Given the description of an element on the screen output the (x, y) to click on. 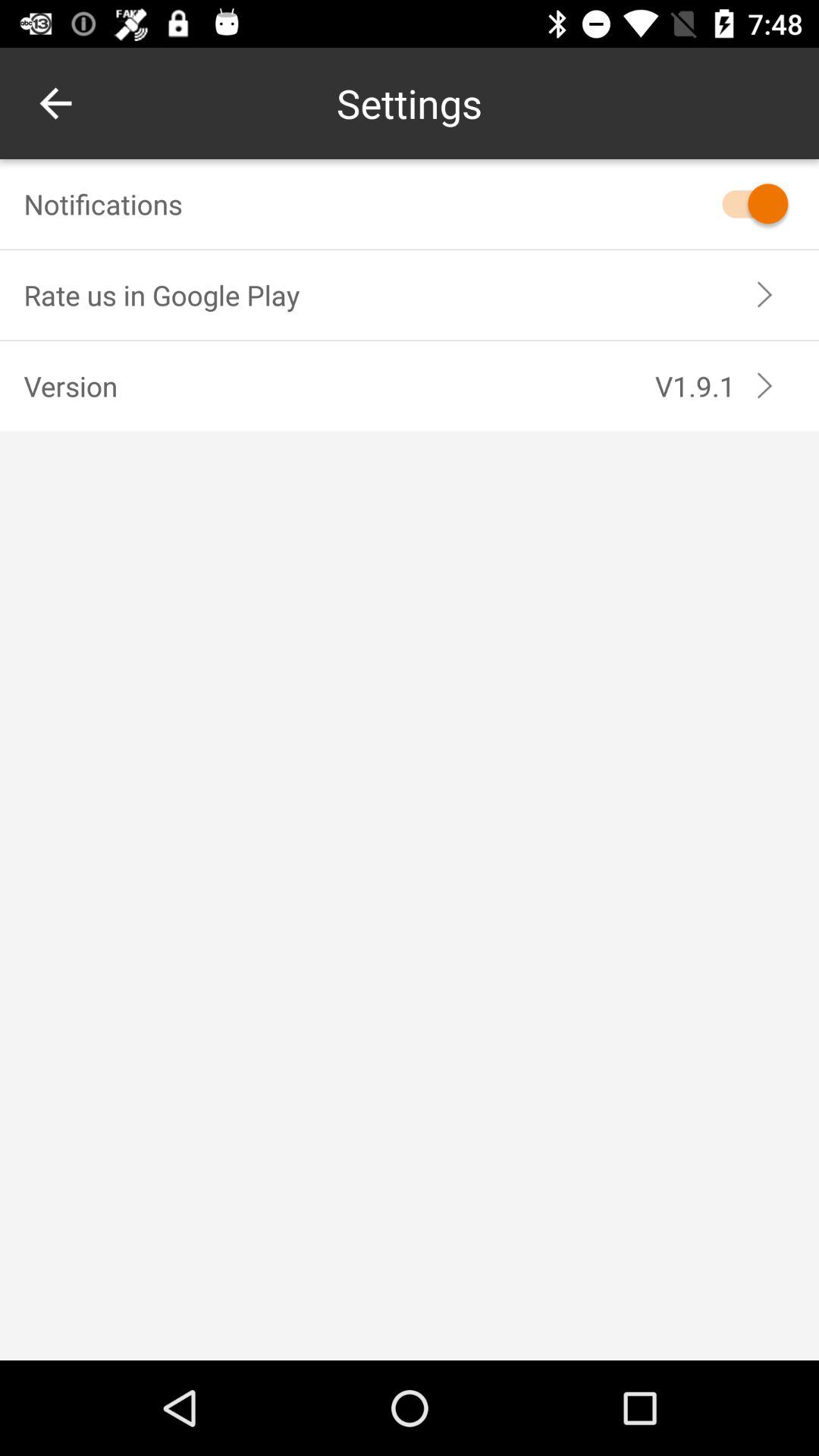
press the item to the left of settings icon (55, 103)
